Given the description of an element on the screen output the (x, y) to click on. 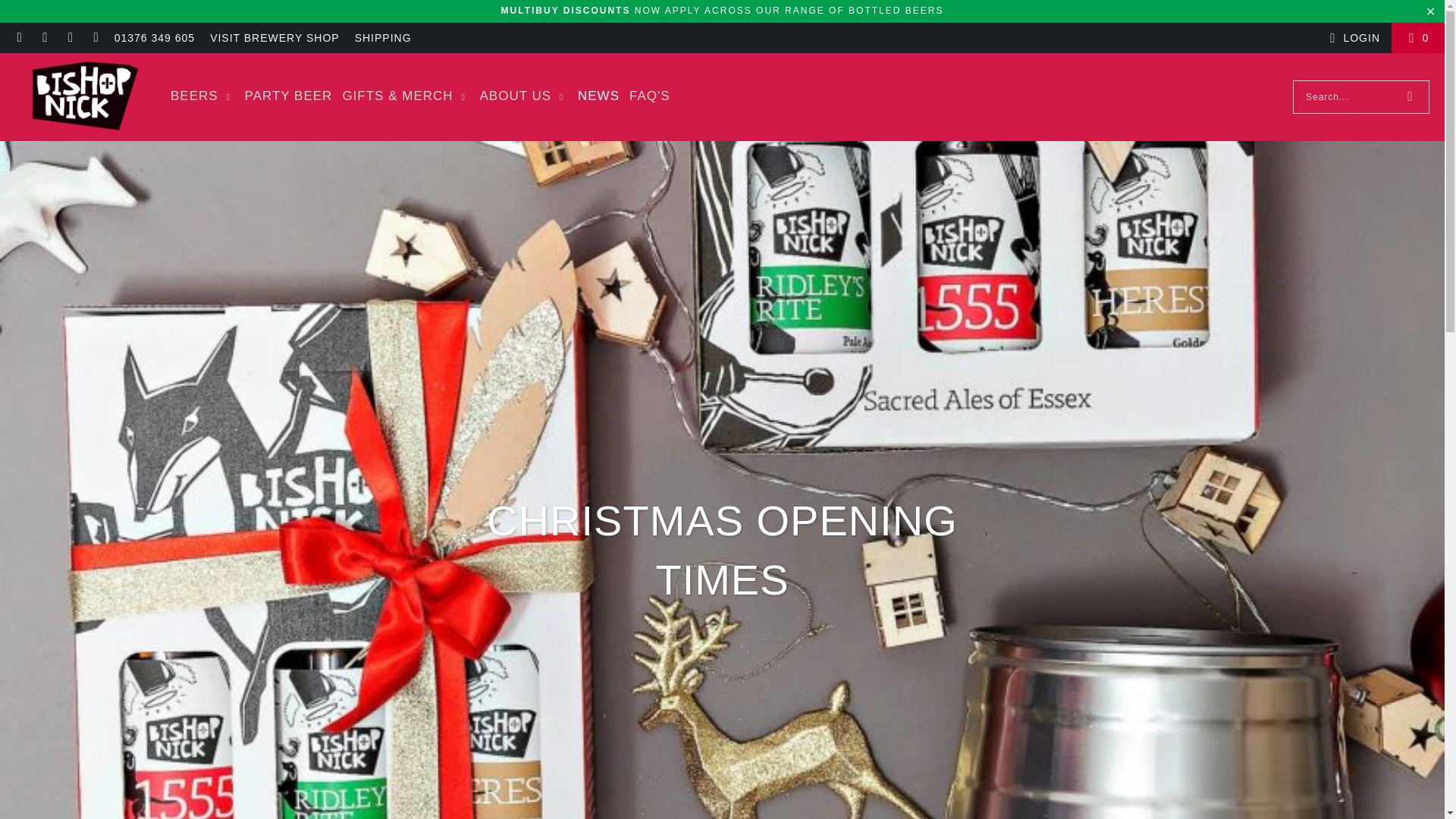
Bishop Nick (84, 96)
Bishop Nick on Facebook (44, 37)
My Account  (1352, 37)
Bishop Nick on Twitter (95, 37)
Bishop Nick on Instagram (69, 37)
Email Bishop Nick (18, 37)
